Given the description of an element on the screen output the (x, y) to click on. 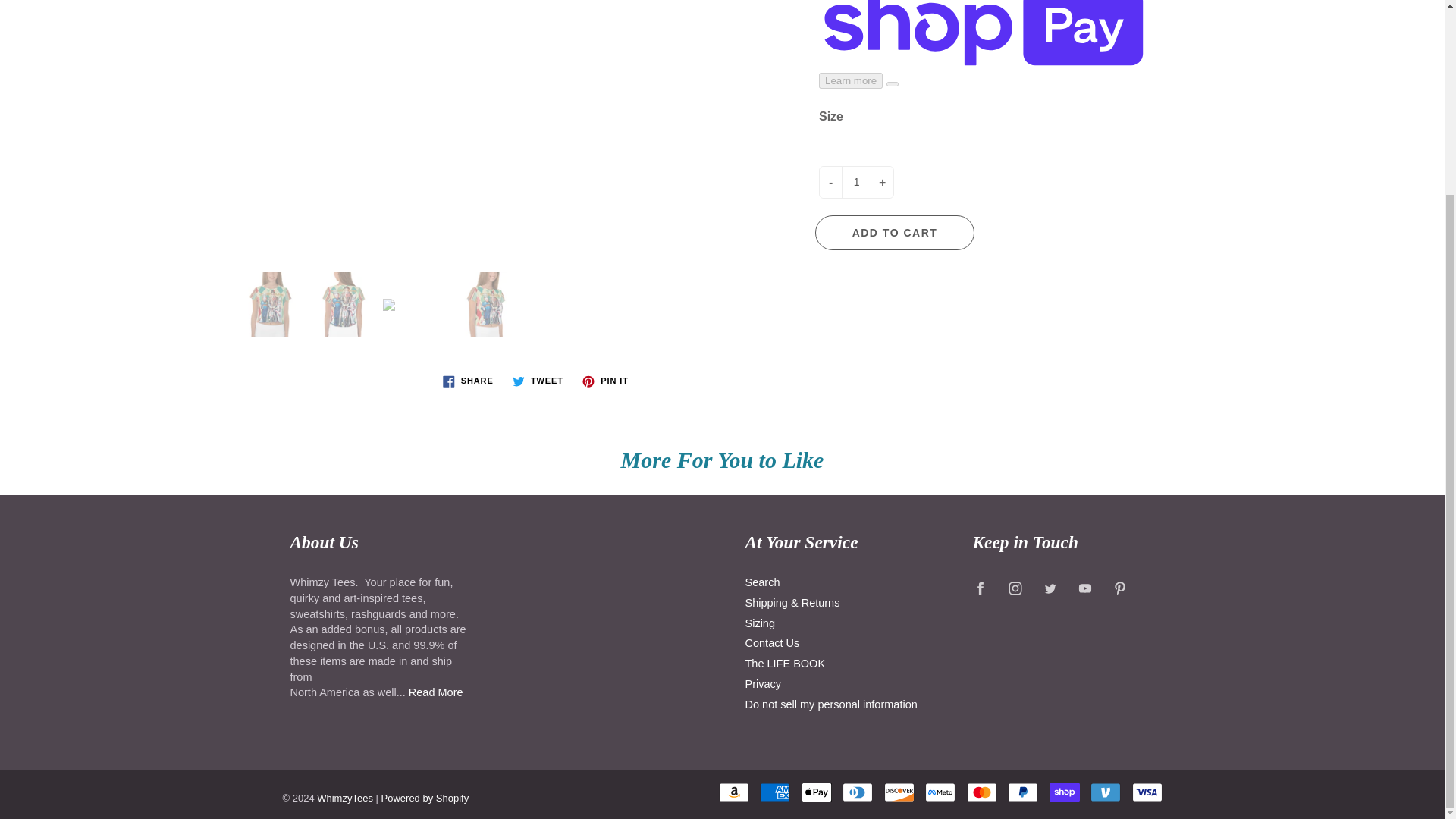
Amazon (734, 792)
American Express (775, 792)
Diners Club (857, 792)
Apple Pay (816, 792)
Meta Pay (939, 792)
Mastercard (981, 792)
Discover (898, 792)
1 (855, 182)
